Given the description of an element on the screen output the (x, y) to click on. 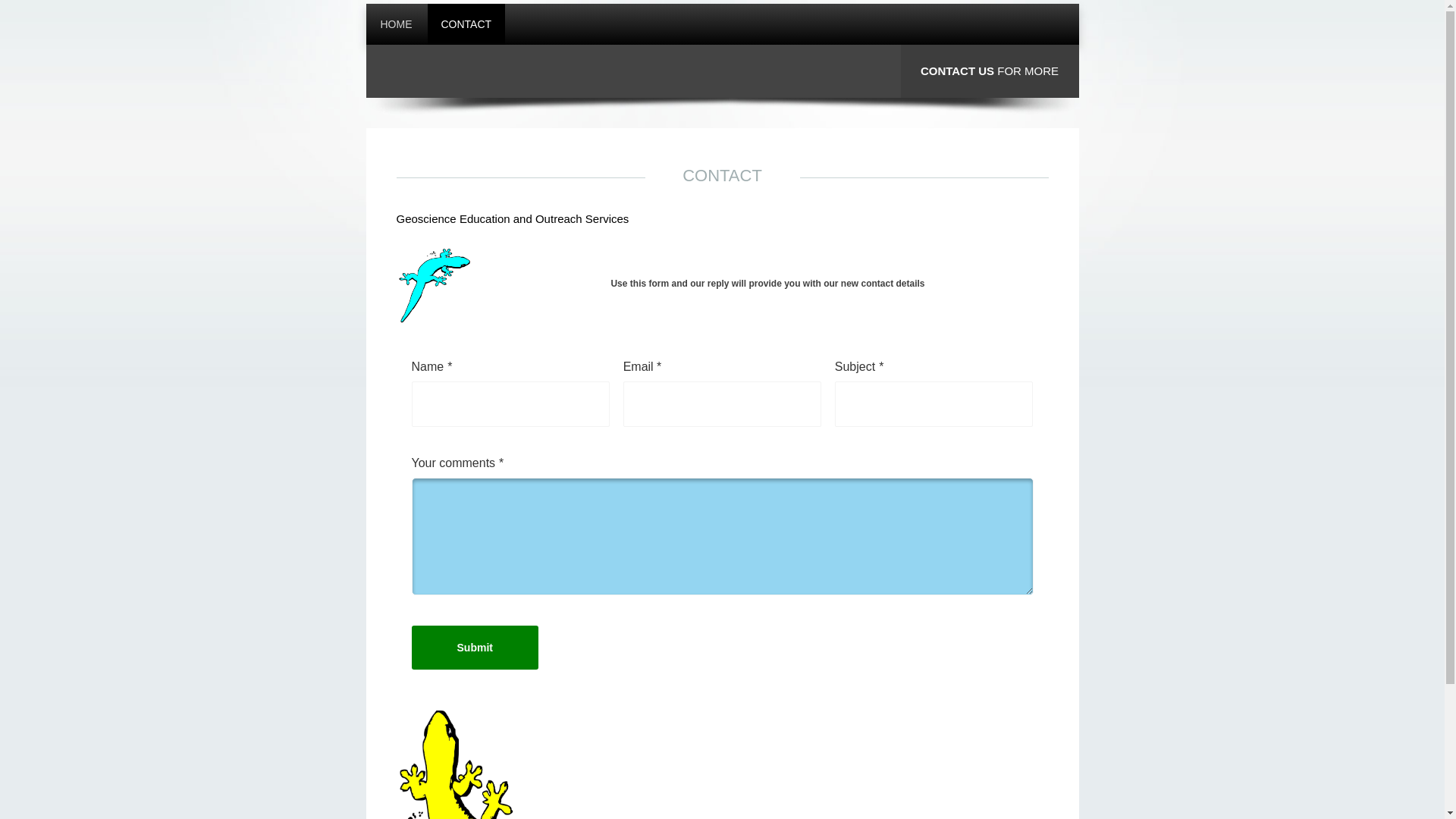
HOME Element type: text (396, 23)
CONTACT US FOR MORE INFO Element type: text (989, 97)
CONTACT Element type: text (466, 23)
